Given the description of an element on the screen output the (x, y) to click on. 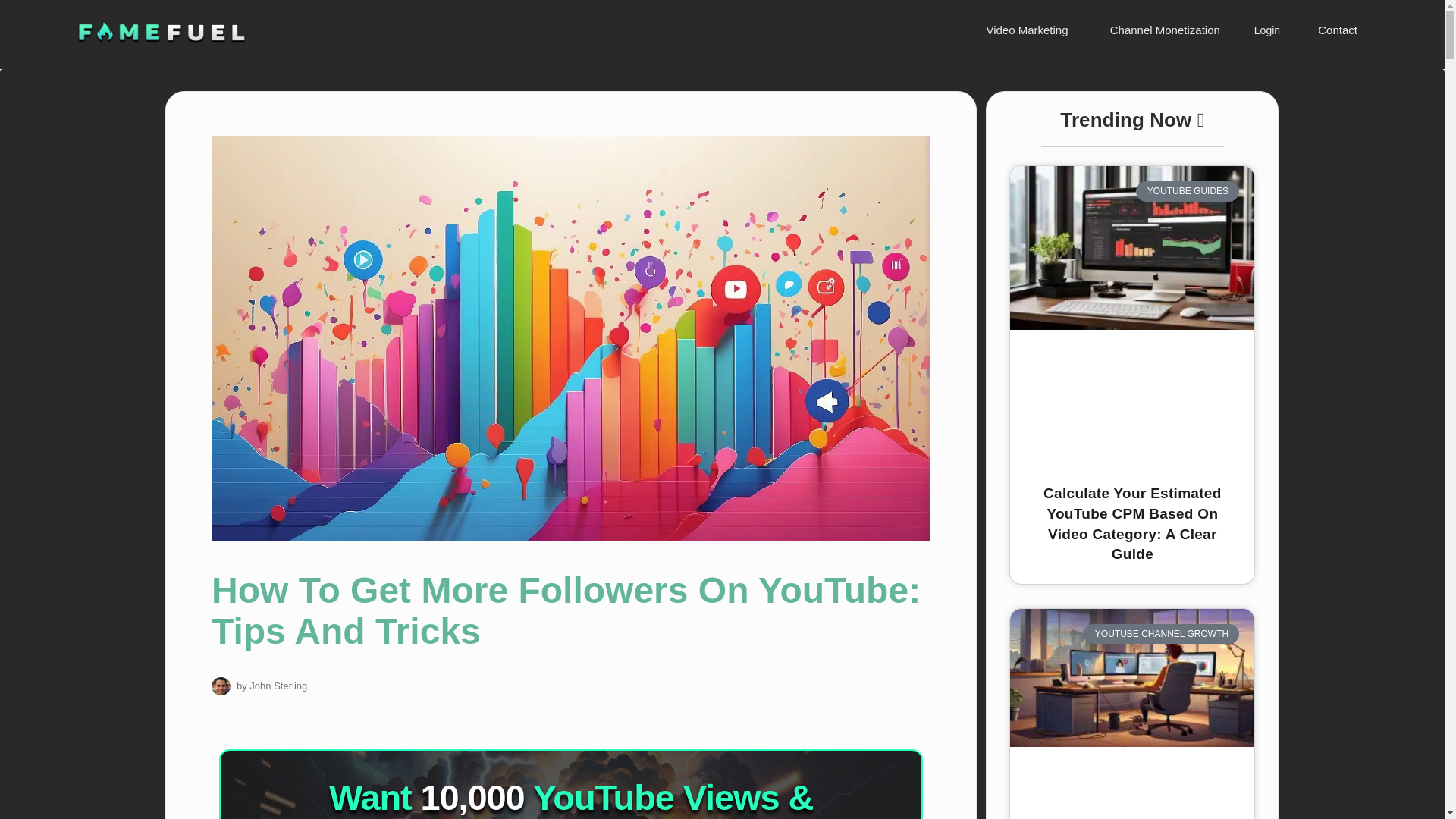
Contact (1335, 30)
Channel Monetization (1163, 30)
Video Marketing (1024, 30)
Login (1267, 30)
